Given the description of an element on the screen output the (x, y) to click on. 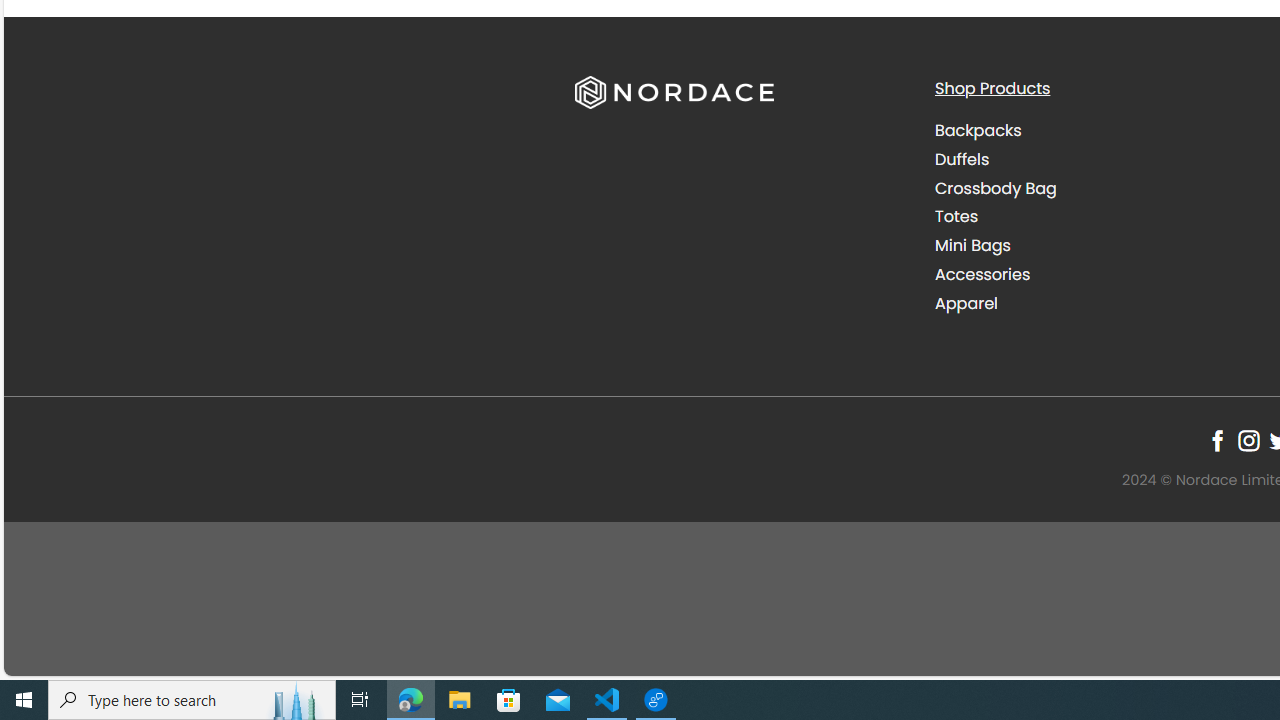
Mini Bags (1099, 246)
Follow on Instagram (1248, 440)
Crossbody Bag (1099, 188)
Duffels (961, 158)
Crossbody Bag (995, 187)
Accessories (1099, 274)
Duffels (1099, 159)
Apparel (966, 302)
Backpacks (977, 130)
Totes (1099, 216)
Accessories (982, 273)
Follow on Facebook (1217, 440)
Totes (955, 216)
Apparel (1099, 303)
Mini Bags (972, 245)
